Given the description of an element on the screen output the (x, y) to click on. 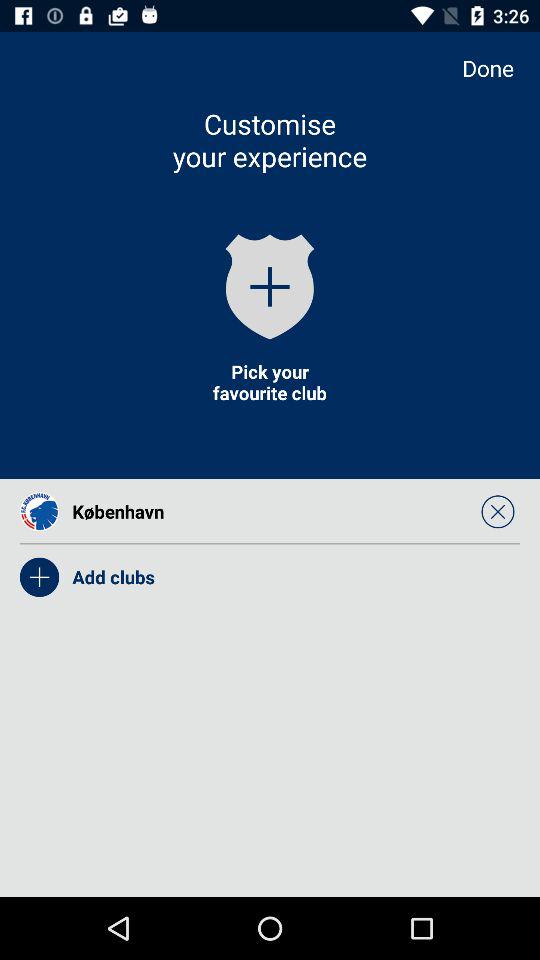
open the pick your favourite (269, 382)
